Given the description of an element on the screen output the (x, y) to click on. 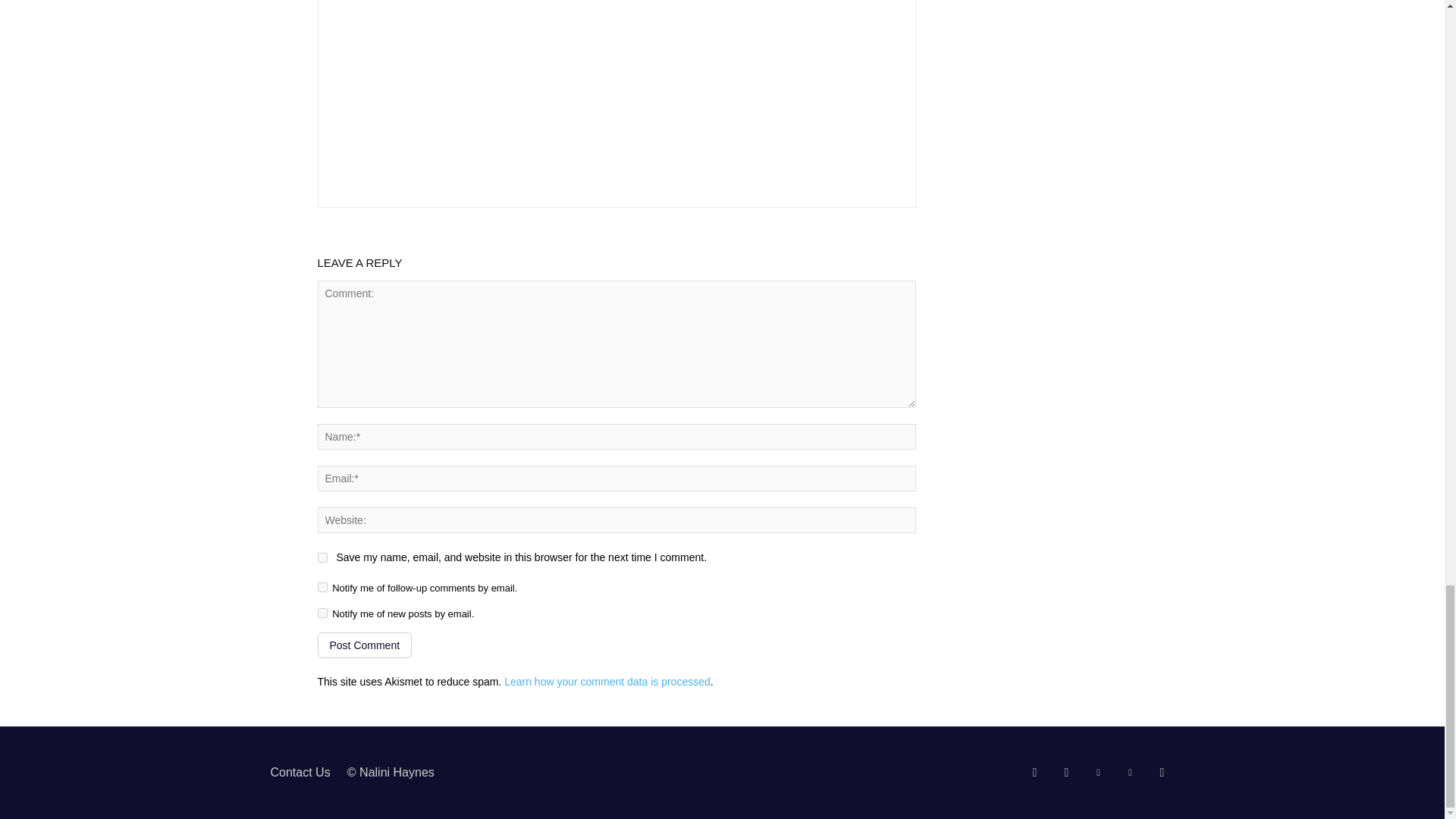
subscribe (321, 613)
subscribe (321, 587)
Post Comment (364, 645)
yes (321, 557)
